Given the description of an element on the screen output the (x, y) to click on. 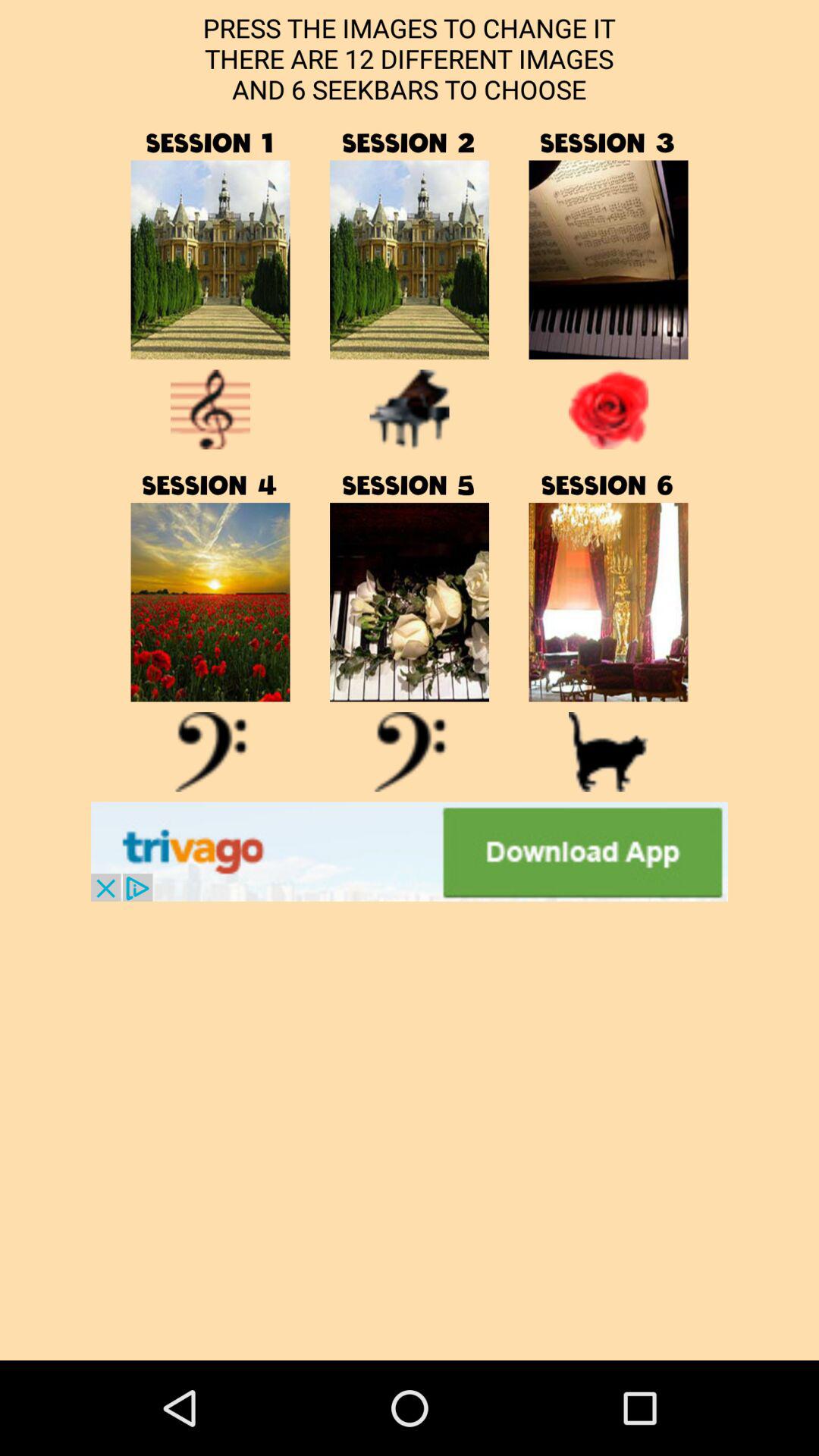
music selection image (608, 601)
